Given the description of an element on the screen output the (x, y) to click on. 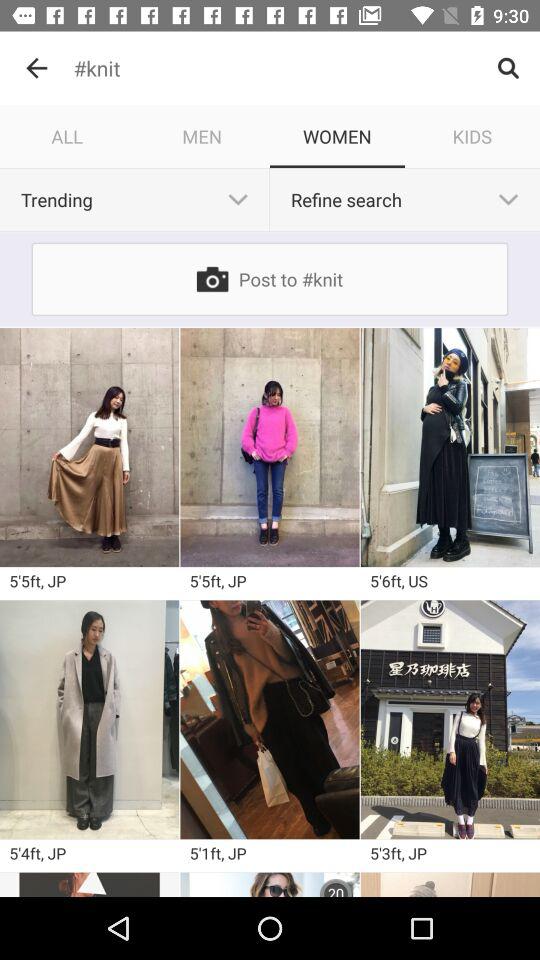
add something (450, 719)
